Given the description of an element on the screen output the (x, y) to click on. 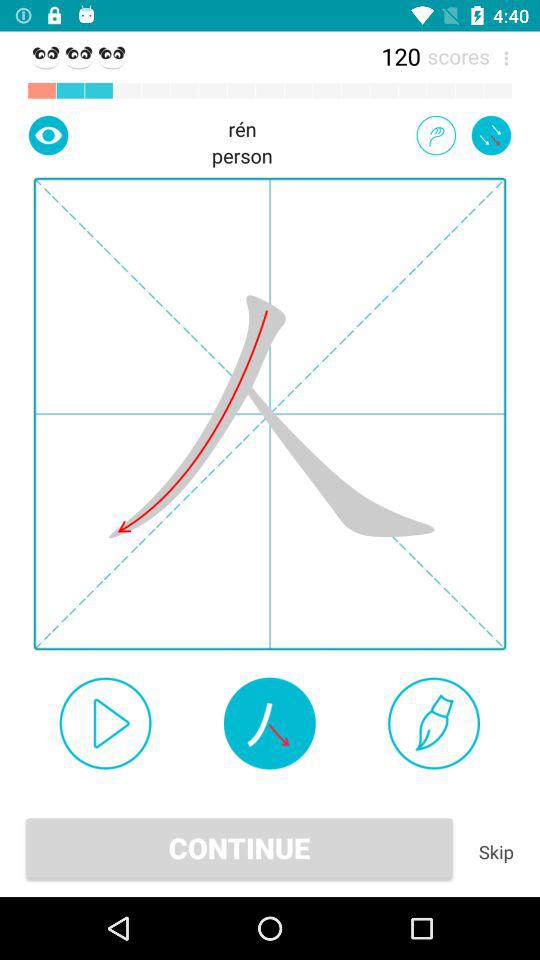
animation button (436, 135)
